Given the description of an element on the screen output the (x, y) to click on. 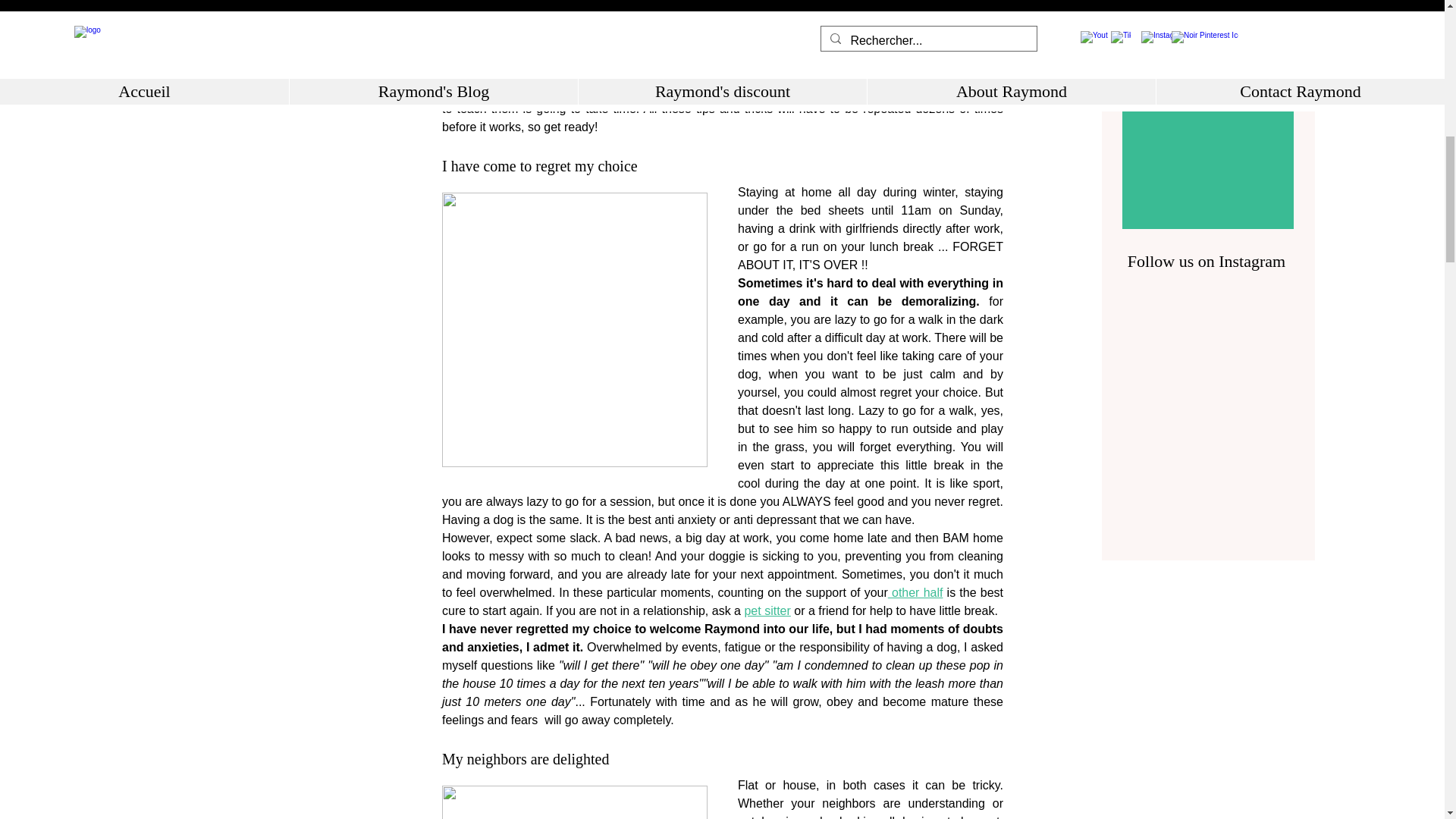
pet sitter (767, 610)
 other half (914, 592)
